Given the description of an element on the screen output the (x, y) to click on. 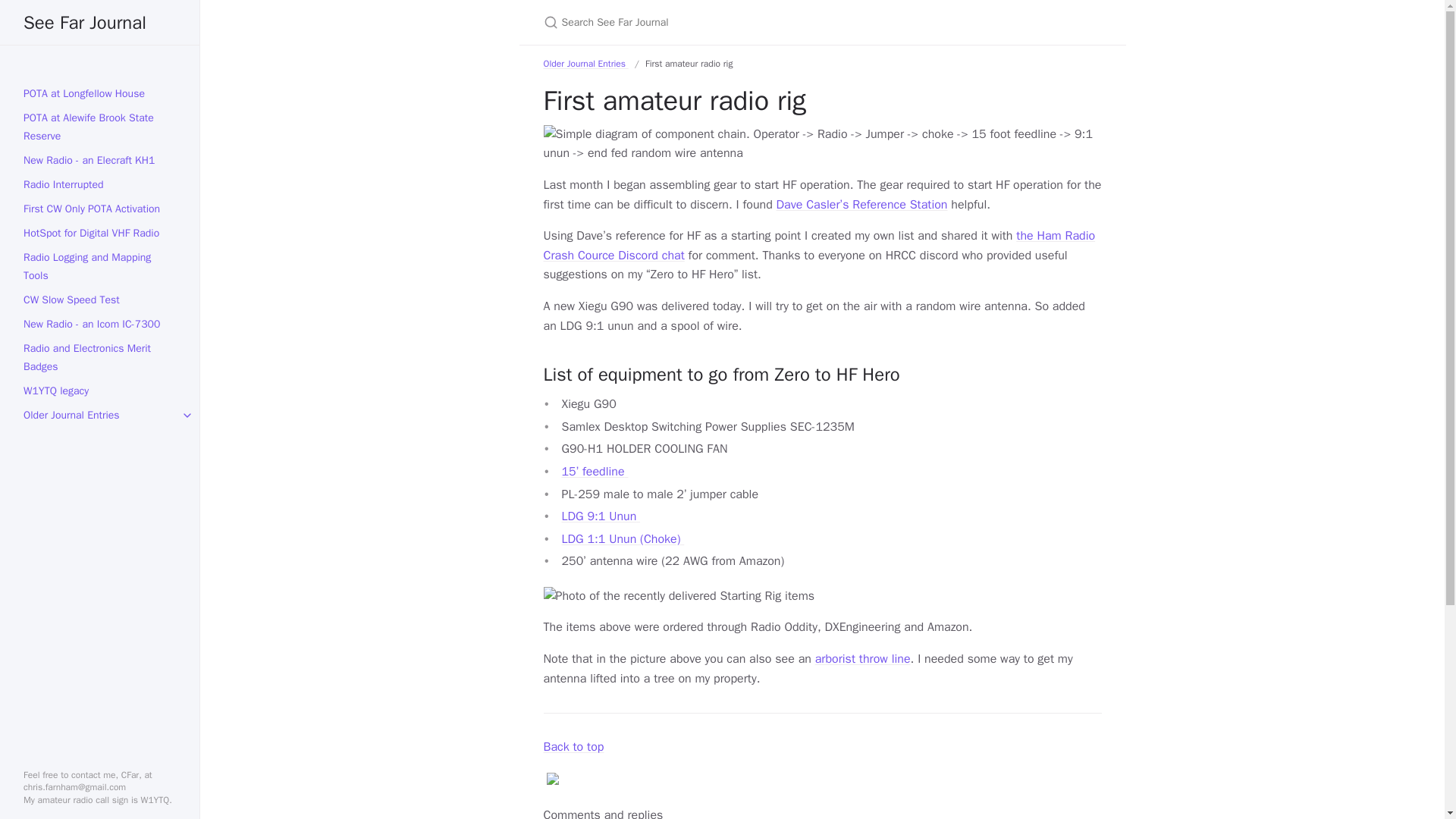
First CW Only POTA Activation (99, 209)
POTA at Alewife Brook State Reserve (99, 127)
arborist throw line (863, 658)
LDG 9:1 Unun (600, 516)
Radio Interrupted (99, 184)
Older Journal Entries (99, 415)
HotSpot for Digital VHF Radio (99, 233)
Recently delivered items (678, 596)
Radio Logging and Mapping Tools (99, 266)
New Radio - an Icom IC-7300 (99, 324)
Back to top (573, 746)
W1YTQ legacy (99, 391)
the Ham Radio Crash Cource Discord chat (818, 245)
CW Slow Speed Test (99, 300)
Radio and Electronics Merit Badges (99, 357)
